Given the description of an element on the screen output the (x, y) to click on. 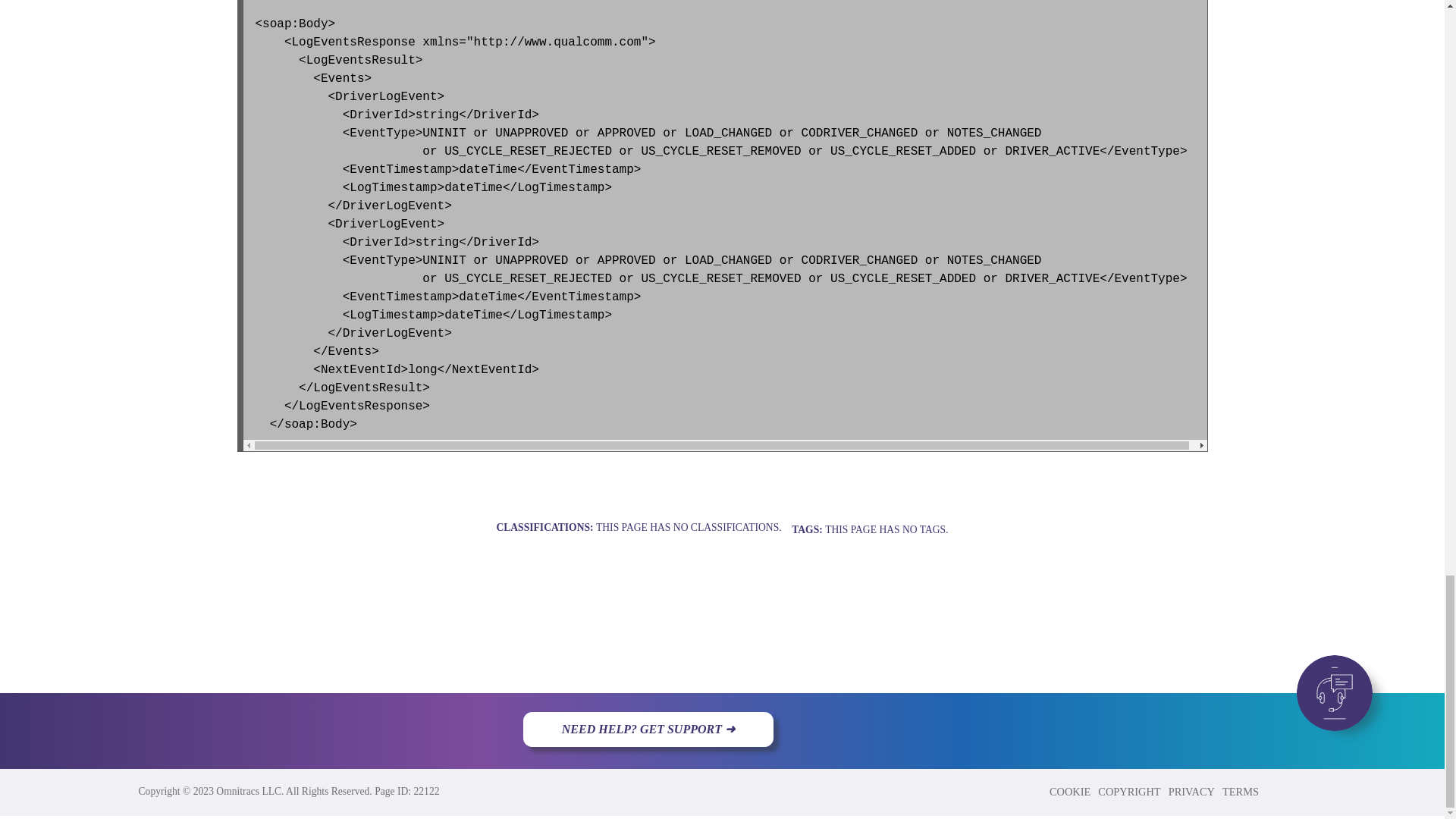
TERMS (1241, 791)
PRIVACY (1193, 791)
COPYRIGHT (1130, 791)
COOKIE (1071, 791)
